Given the description of an element on the screen output the (x, y) to click on. 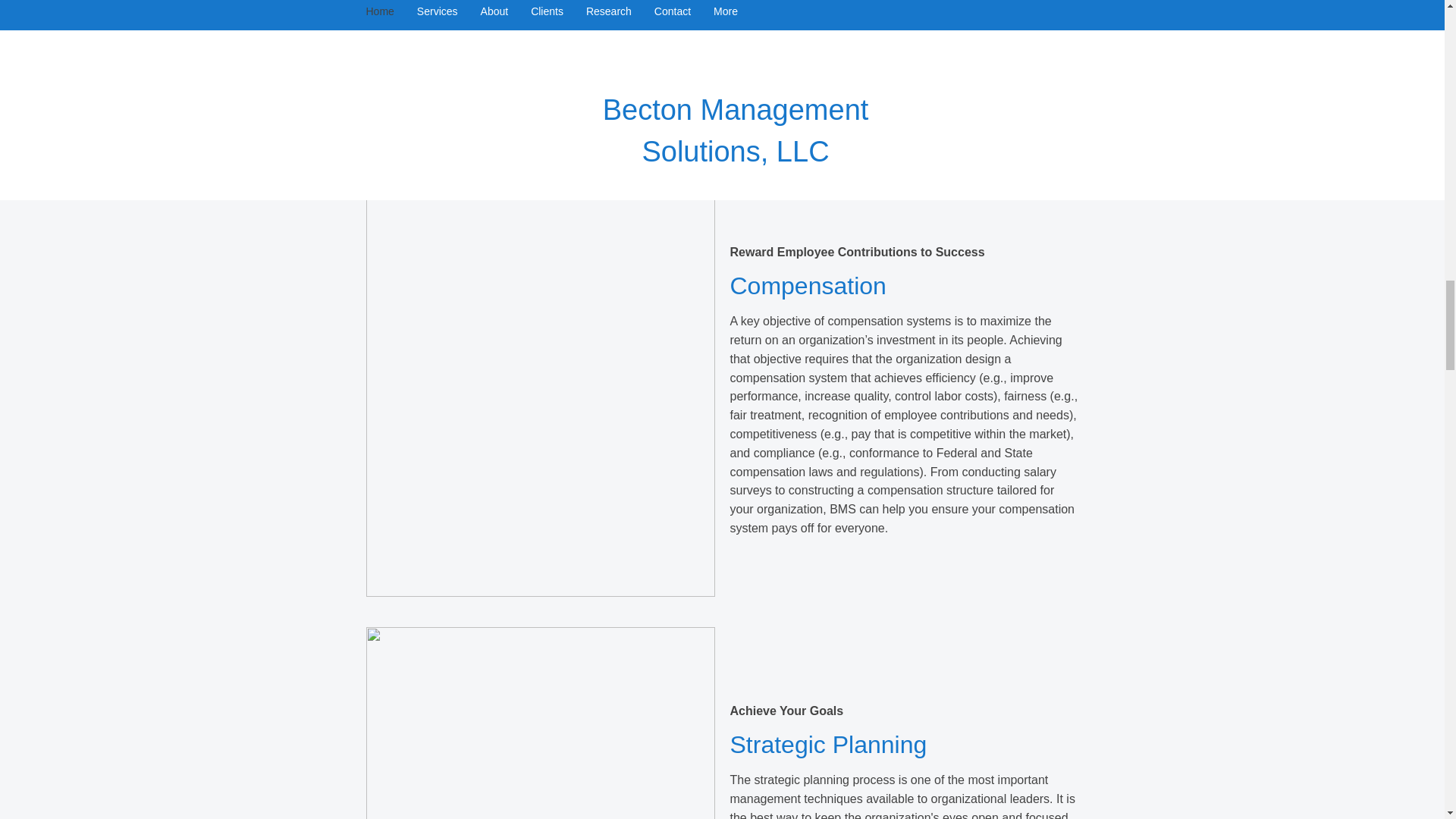
Business Meeting (539, 63)
Businessman (539, 723)
